Given the description of an element on the screen output the (x, y) to click on. 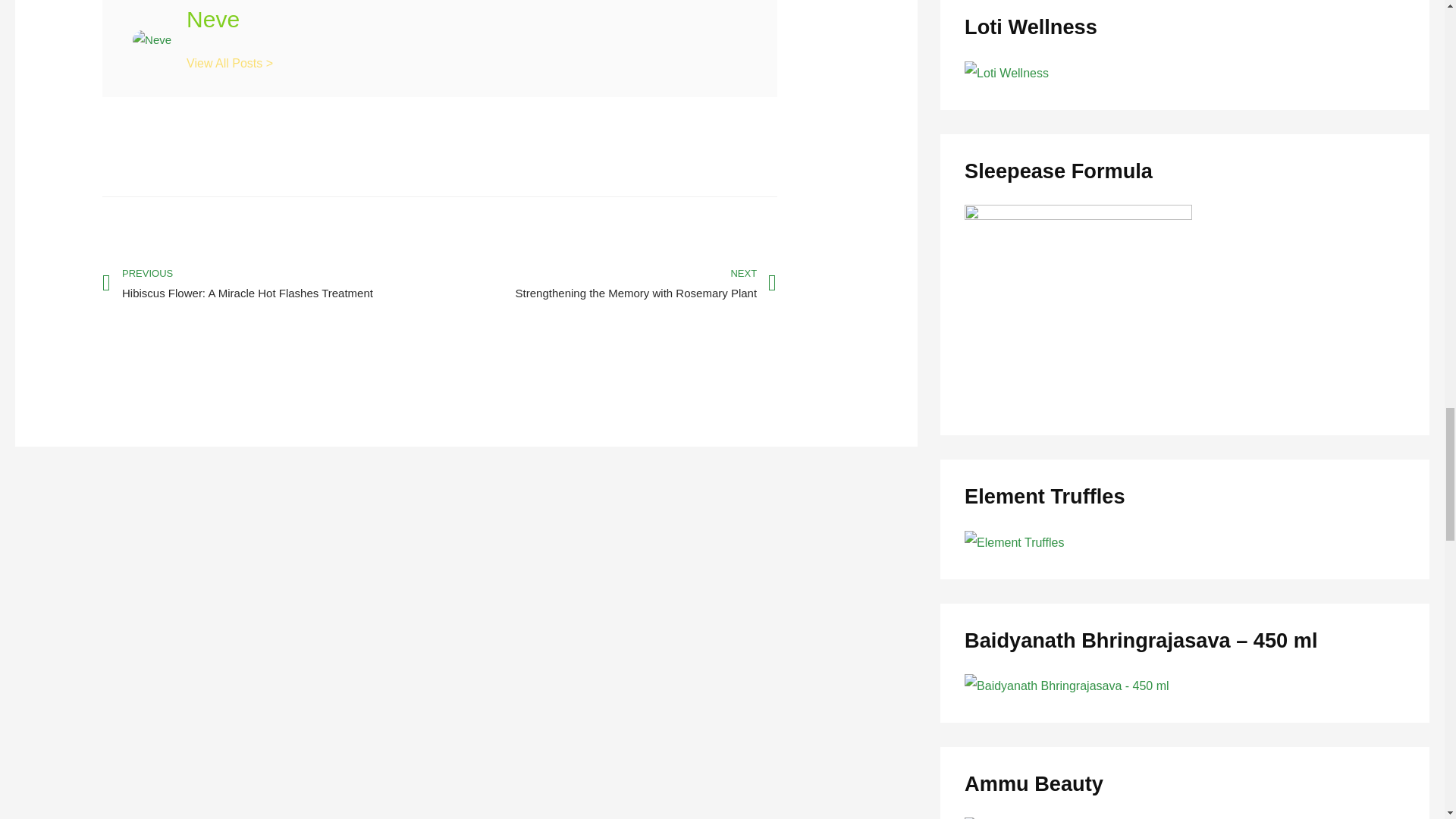
Neve (466, 18)
